Given the description of an element on the screen output the (x, y) to click on. 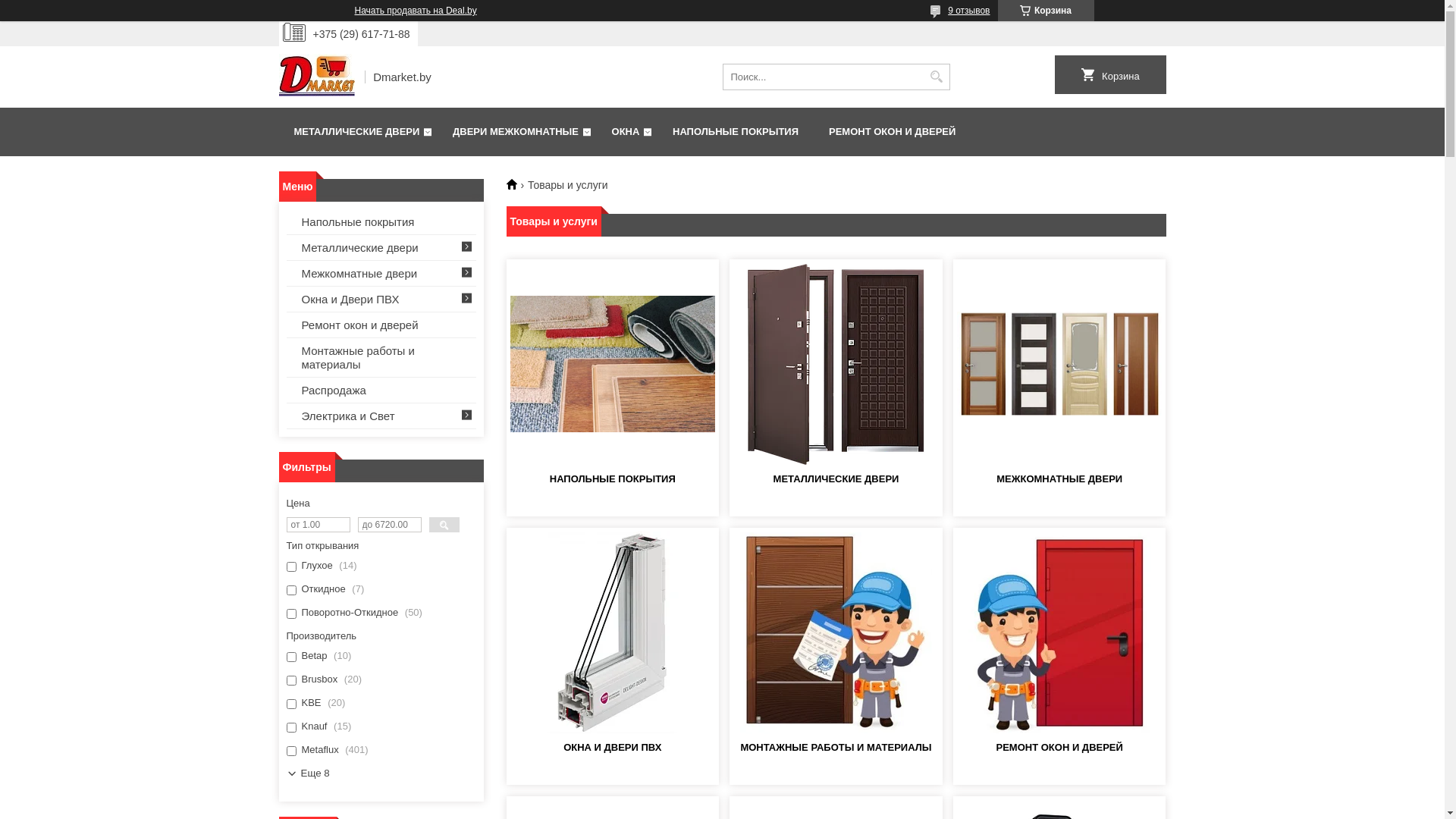
Dmarket.by Element type: hover (516, 183)
Dmarket.by Element type: hover (316, 76)
